Given the description of an element on the screen output the (x, y) to click on. 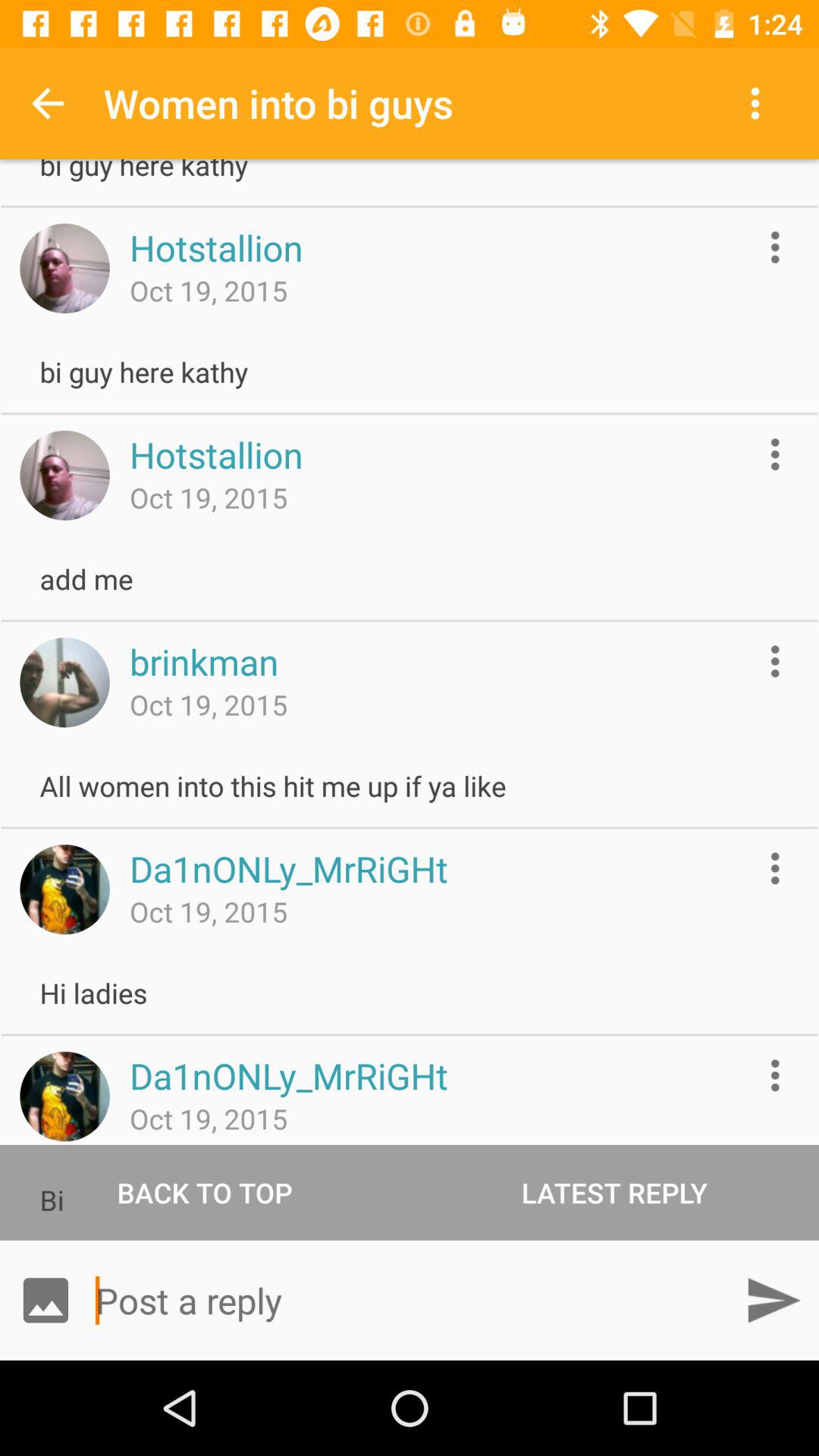
tap the icon to the right of back to top icon (614, 1192)
